Given the description of an element on the screen output the (x, y) to click on. 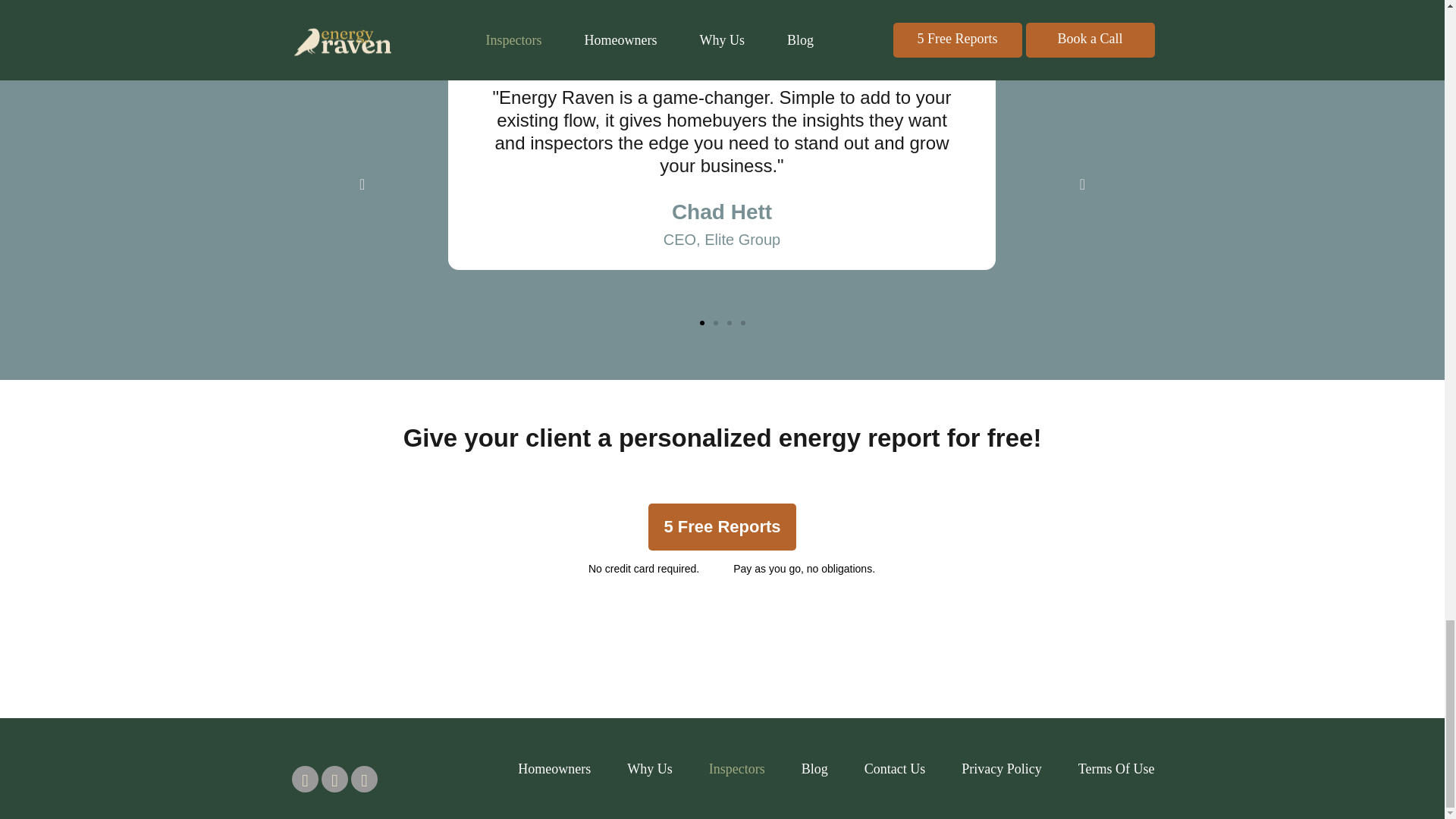
5 Free Reports (720, 526)
Inspectors (737, 769)
Homeowners (554, 769)
linkedin (363, 778)
Why Us (649, 769)
Contact Us (895, 769)
Privacy Policy (1001, 769)
instagram (334, 778)
facebook (305, 778)
Blog (815, 769)
